Given the description of an element on the screen output the (x, y) to click on. 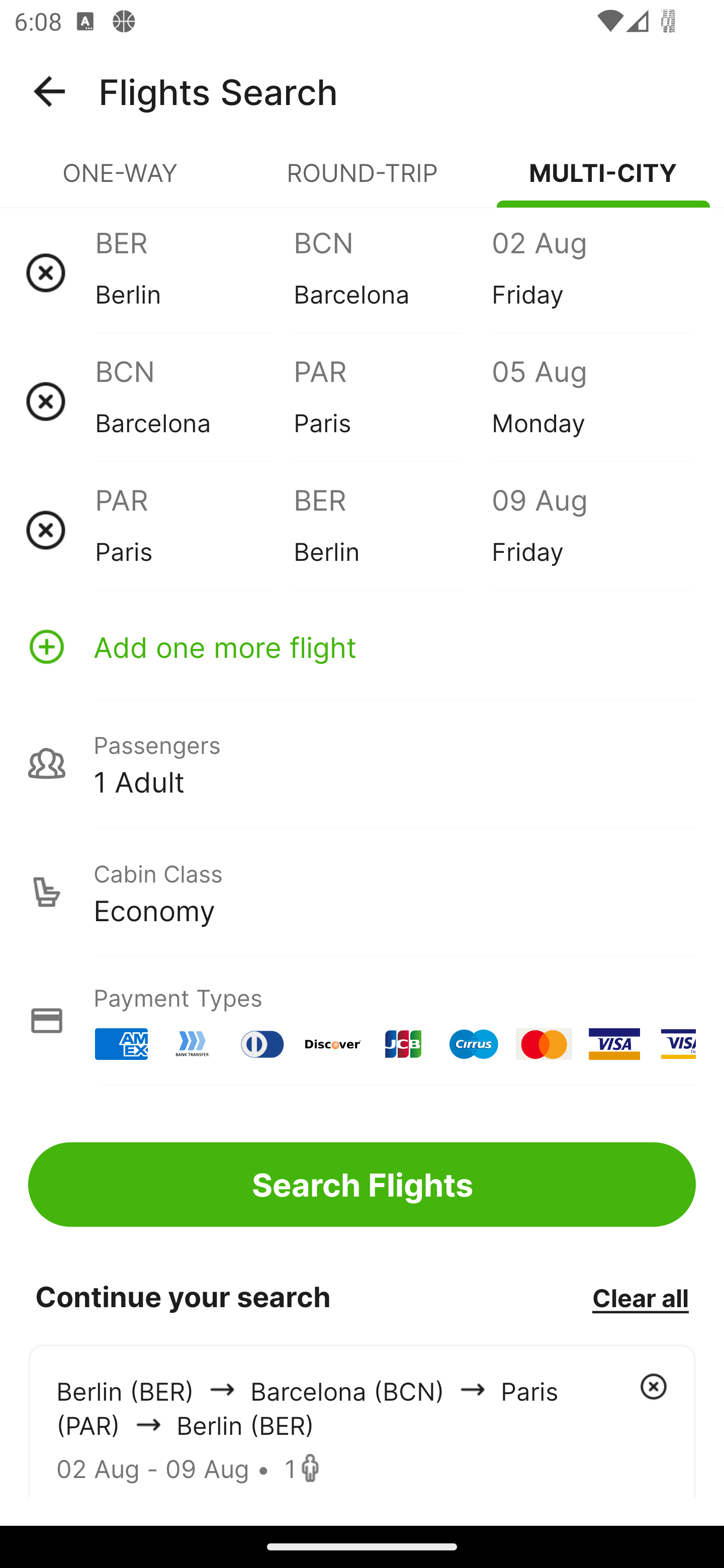
ONE-WAY (120, 180)
ROUND-TRIP (361, 180)
MULTI-CITY (603, 180)
BER Berlin (193, 272)
BCN Barcelona (392, 272)
02 Aug Friday (590, 272)
BCN Barcelona (193, 401)
PAR Paris (392, 401)
05 Aug Monday (590, 401)
PAR Paris (193, 529)
BER Berlin (392, 529)
09 Aug Friday (590, 529)
Add one more flight (362, 646)
Passengers 1 Adult (362, 762)
Cabin Class Economy (362, 891)
Payment Types (362, 1020)
Search Flights (361, 1184)
Clear all (640, 1297)
